Given the description of an element on the screen output the (x, y) to click on. 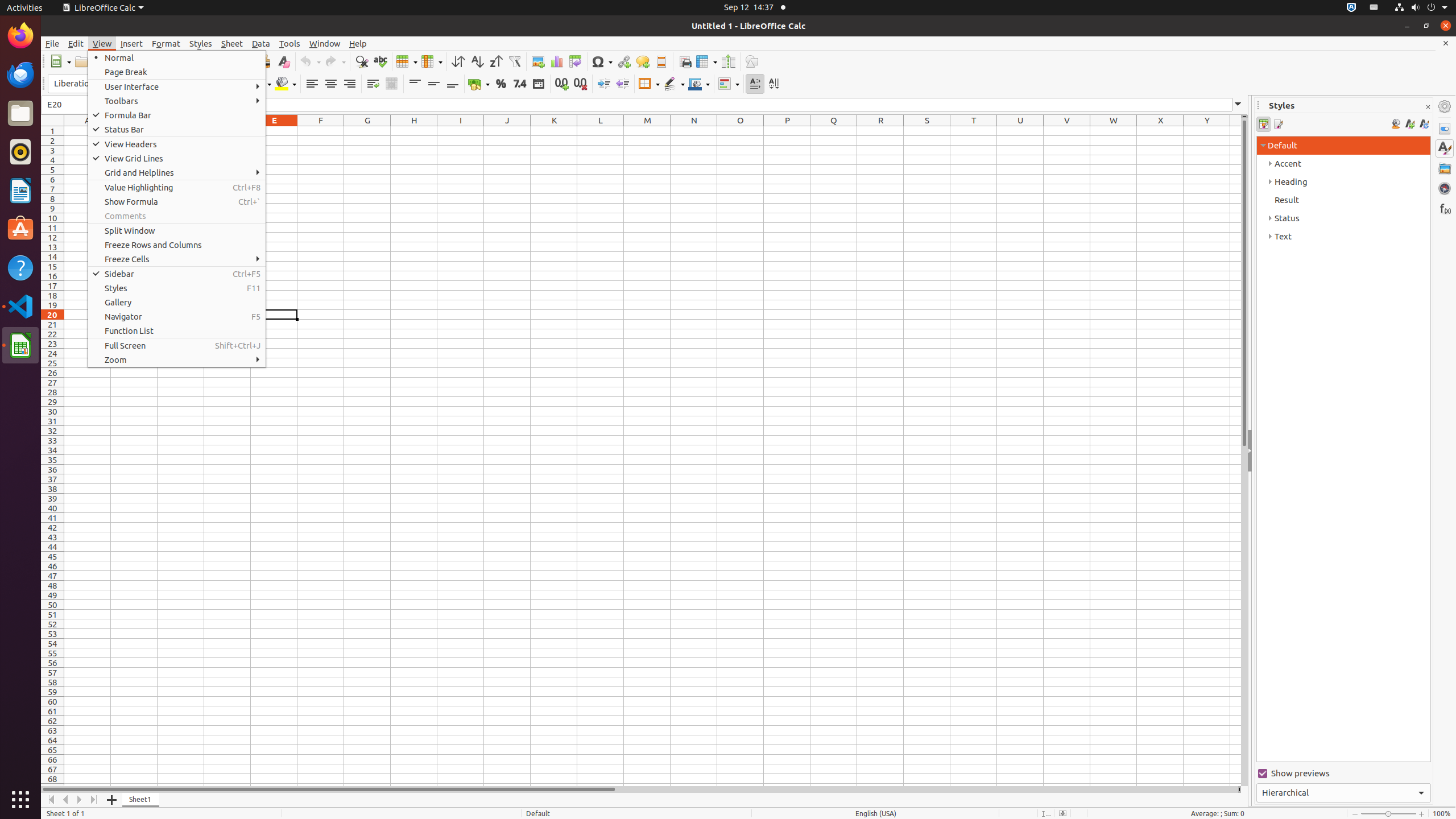
Increase Element type: push-button (603, 83)
Window Element type: menu (324, 43)
Comments Element type: menu-item (176, 215)
Value Highlighting Element type: check-menu-item (176, 187)
Styles Element type: menu-item (176, 287)
